Given the description of an element on the screen output the (x, y) to click on. 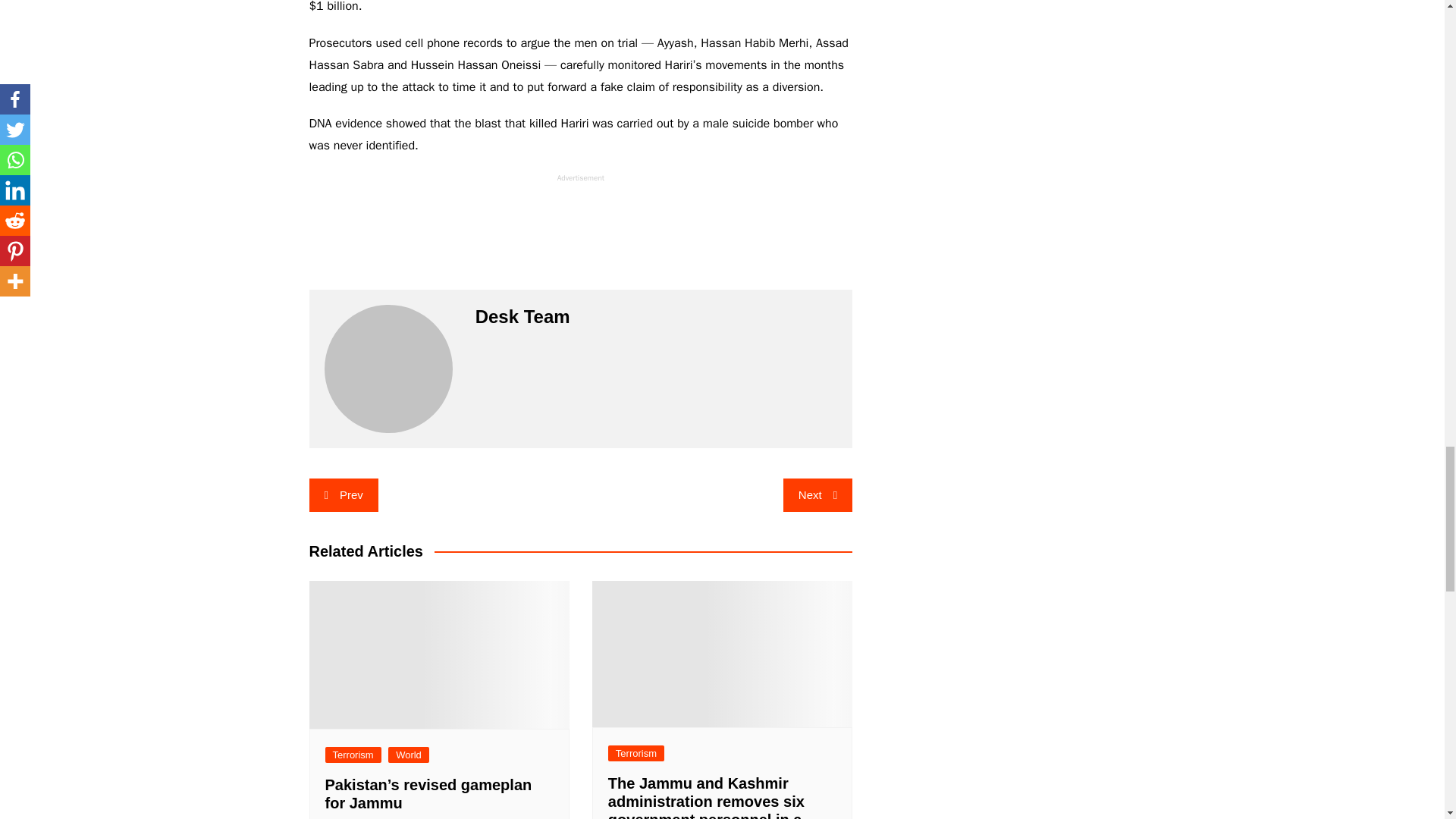
Terrorism (352, 754)
World (408, 754)
Next (817, 494)
Prev (343, 494)
Terrorism (635, 753)
